Given the description of an element on the screen output the (x, y) to click on. 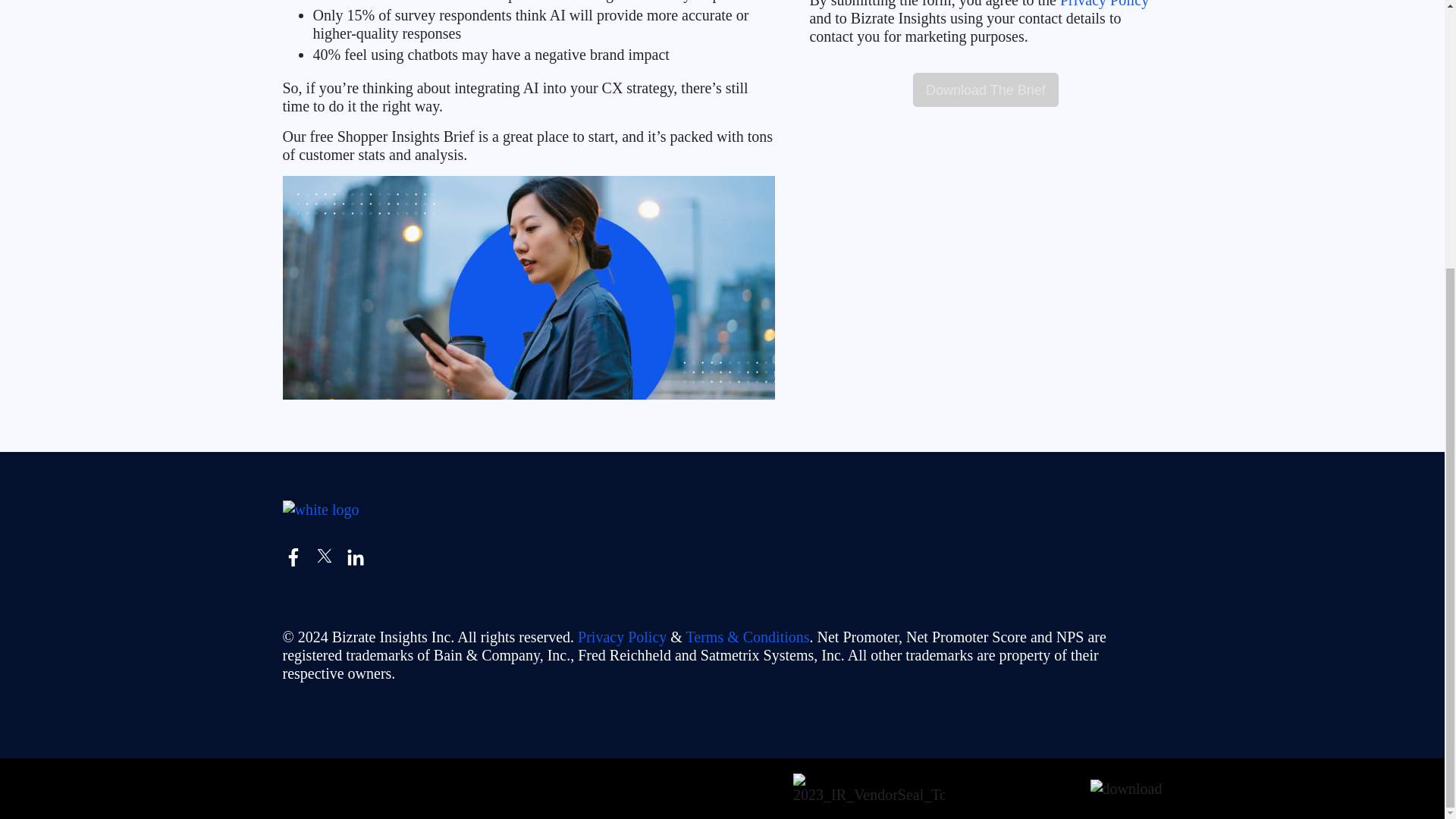
Download the brief (985, 89)
download (1125, 788)
white logo  (320, 509)
Download the brief (985, 89)
Privacy Policy (622, 636)
Privacy Policy (1103, 4)
